Given the description of an element on the screen output the (x, y) to click on. 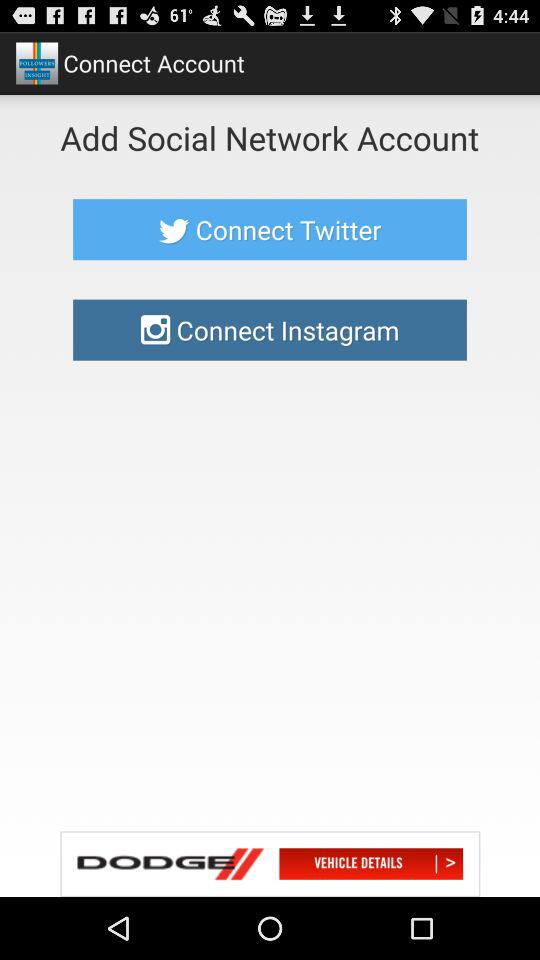
dodge cars link (270, 864)
